Given the description of an element on the screen output the (x, y) to click on. 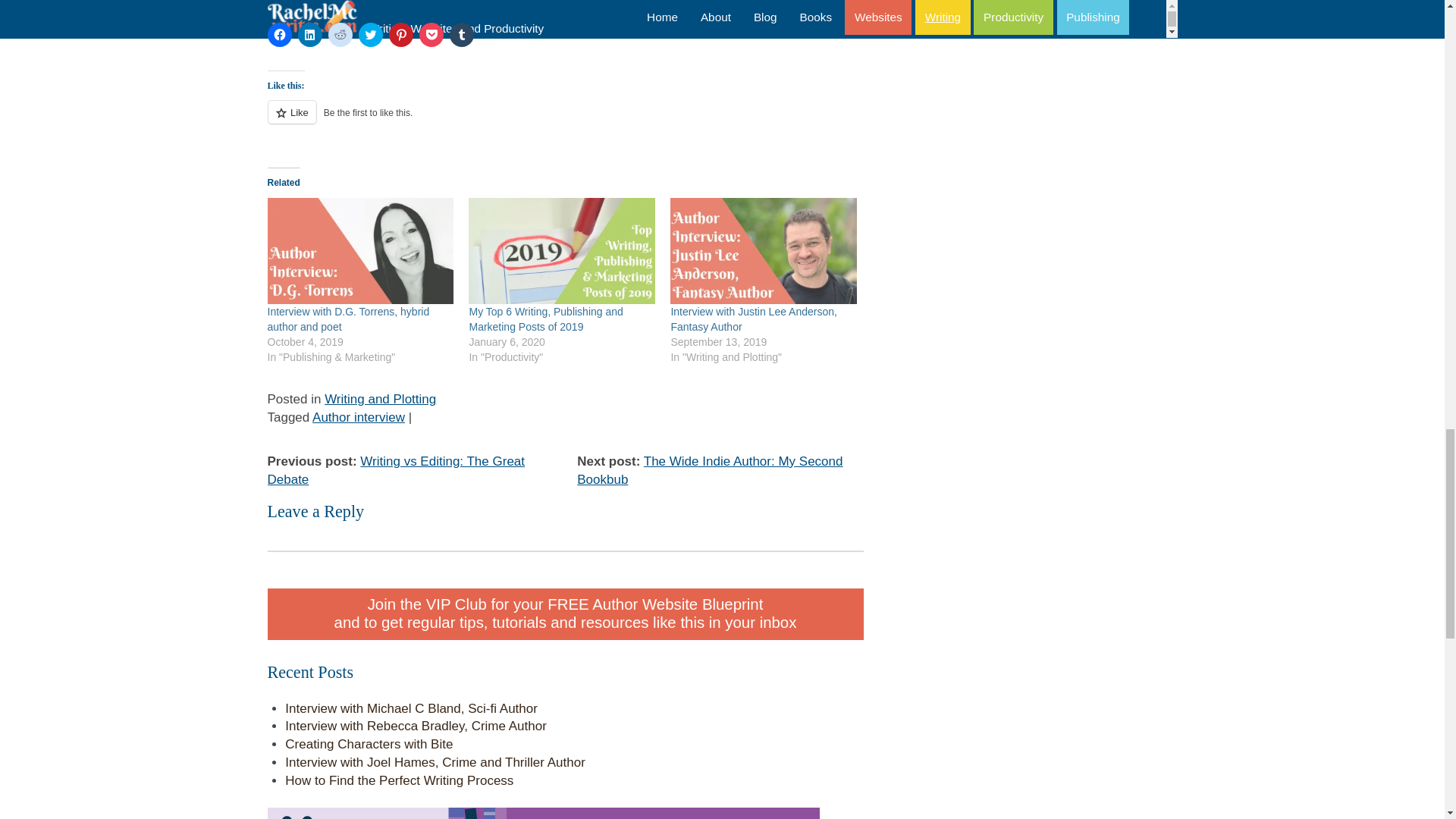
Interview with Justin Lee Anderson, Fantasy Author (752, 318)
My Top 6 Writing, Publishing and Marketing Posts of 2019 (545, 318)
Click to share on Tumblr (460, 34)
My Top 6 Writing, Publishing and Marketing Posts of 2019 (545, 318)
Interview with D.G. Torrens, hybrid author and poet (347, 318)
Interview with D.G. Torrens, hybrid author and poet (359, 251)
Interview with Justin Lee Anderson, Fantasy Author (752, 318)
Click to share on Reddit (339, 34)
My Top 6 Writing, Publishing and Marketing Posts of 2019 (561, 251)
Writing and Plotting (379, 399)
Click to share on Facebook (278, 34)
Click to share on Pocket (430, 34)
Like or Reblog (564, 120)
Click to share on LinkedIn (309, 34)
Interview with Justin Lee Anderson, Fantasy Author (763, 251)
